Given the description of an element on the screen output the (x, y) to click on. 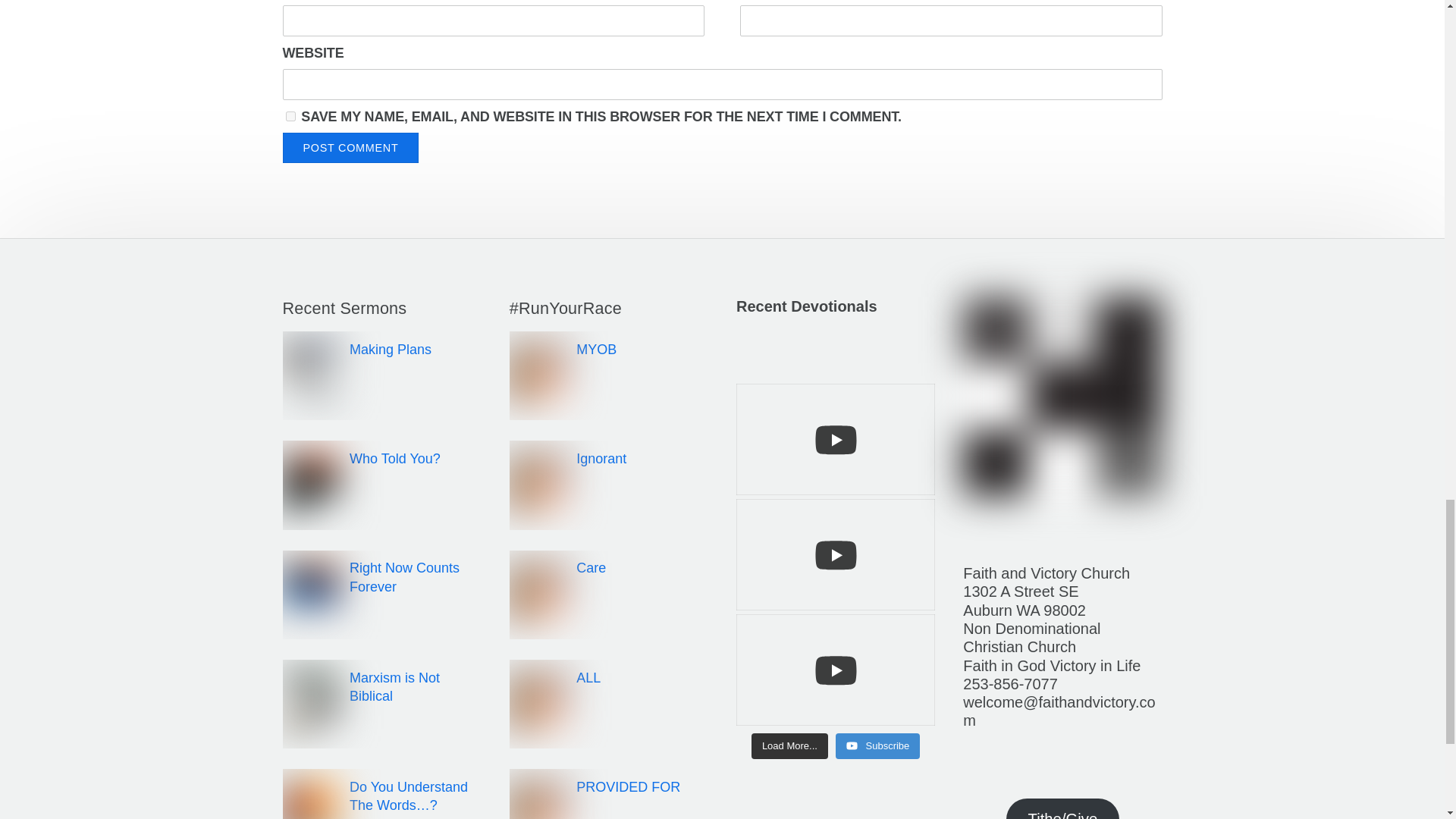
yes (290, 116)
Post Comment (350, 147)
